Given the description of an element on the screen output the (x, y) to click on. 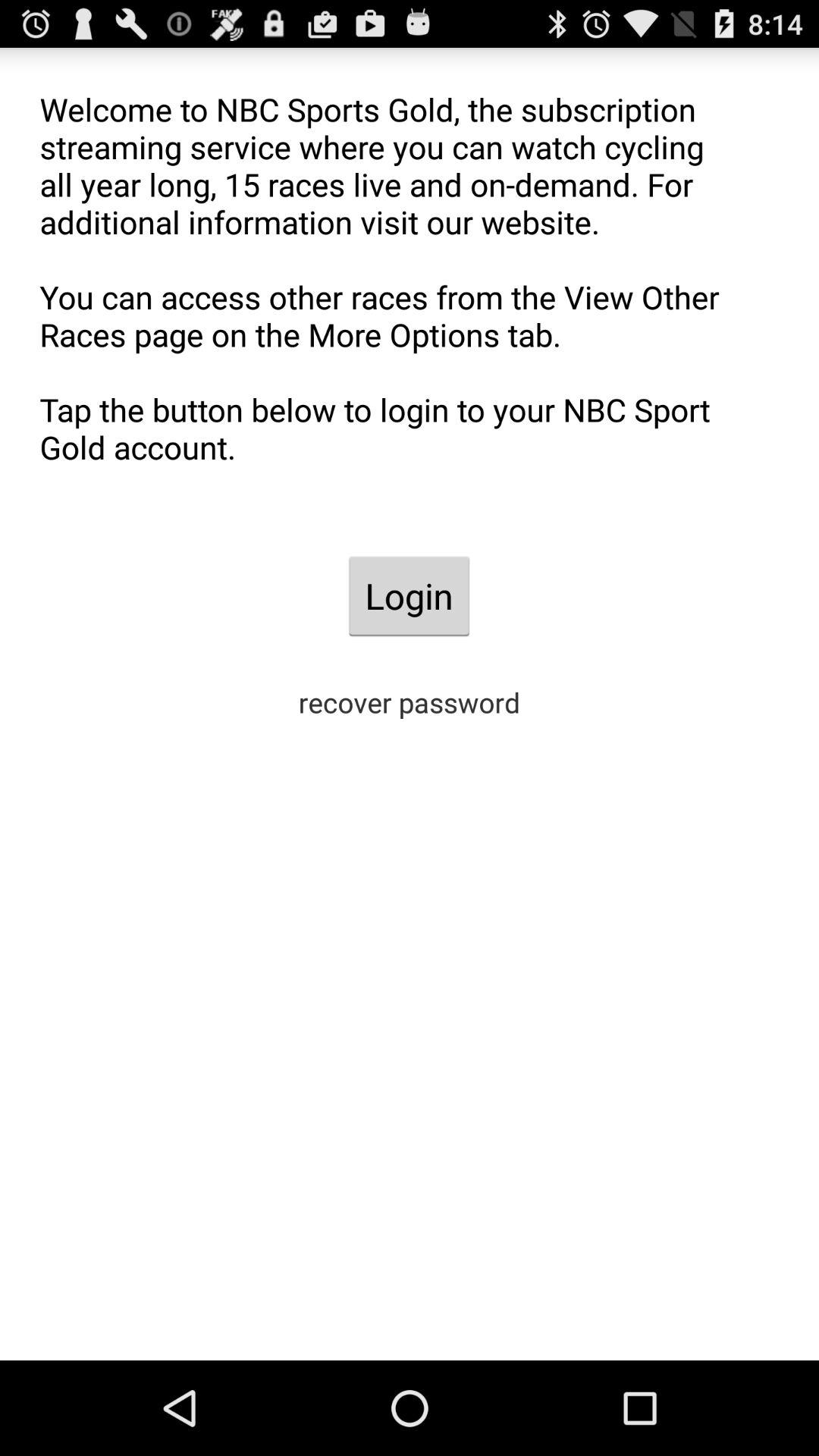
swipe until the login item (409, 595)
